Given the description of an element on the screen output the (x, y) to click on. 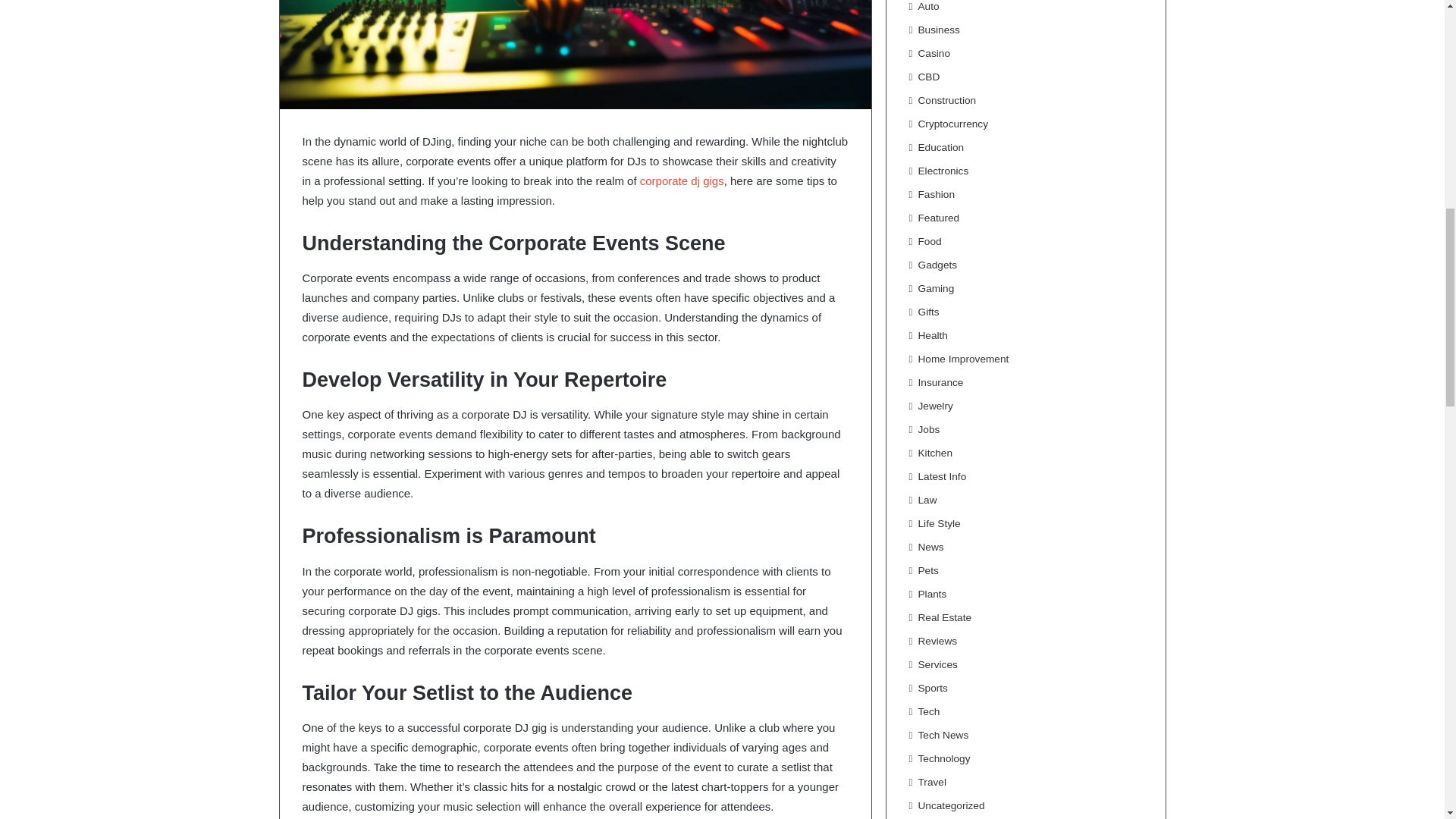
corporate dj gigs (681, 180)
